Given the description of an element on the screen output the (x, y) to click on. 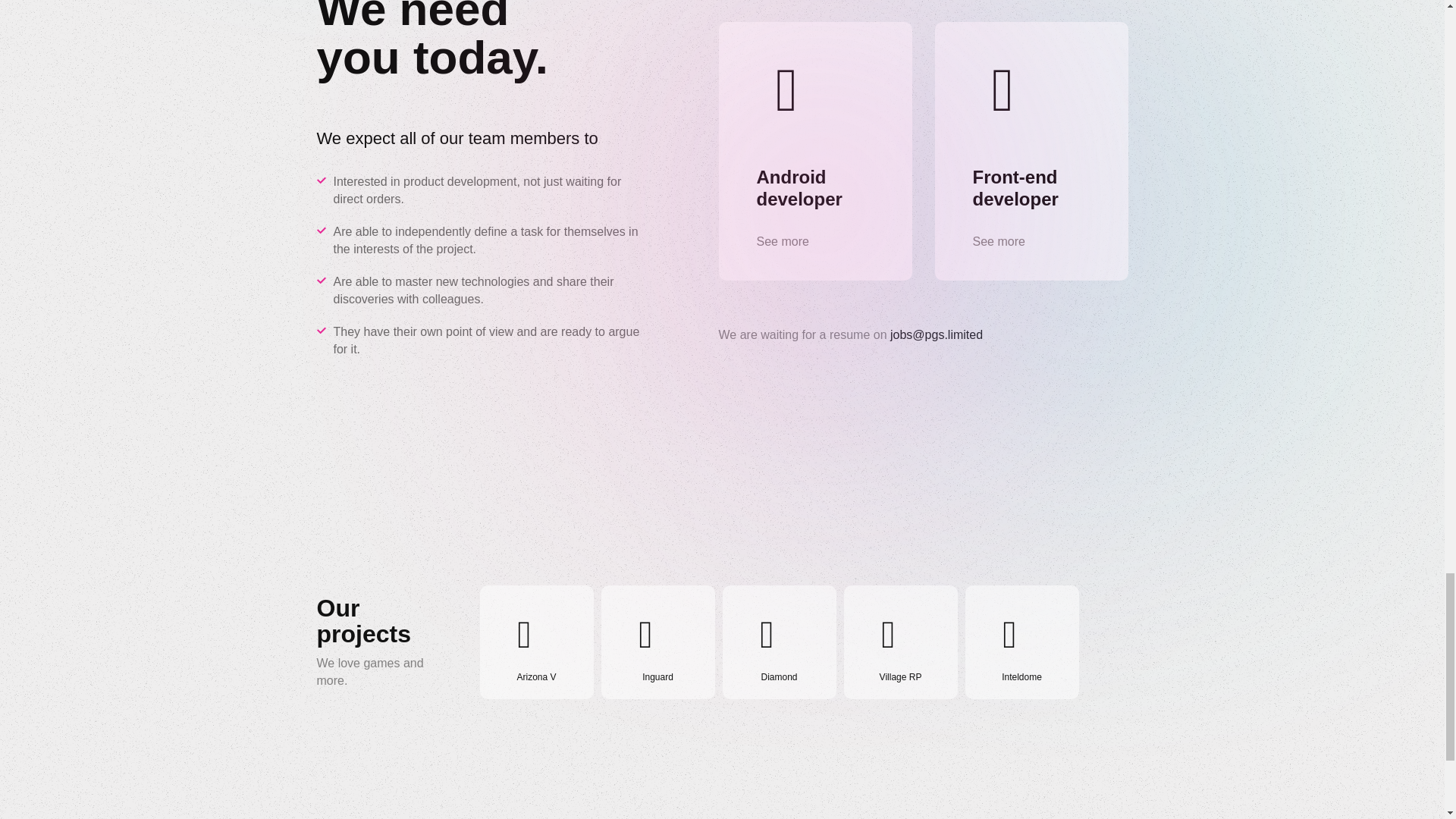
Diamond (778, 642)
Arizona V (535, 642)
Inguard (656, 642)
Village RP (899, 642)
Inteldome (1020, 642)
